Given the description of an element on the screen output the (x, y) to click on. 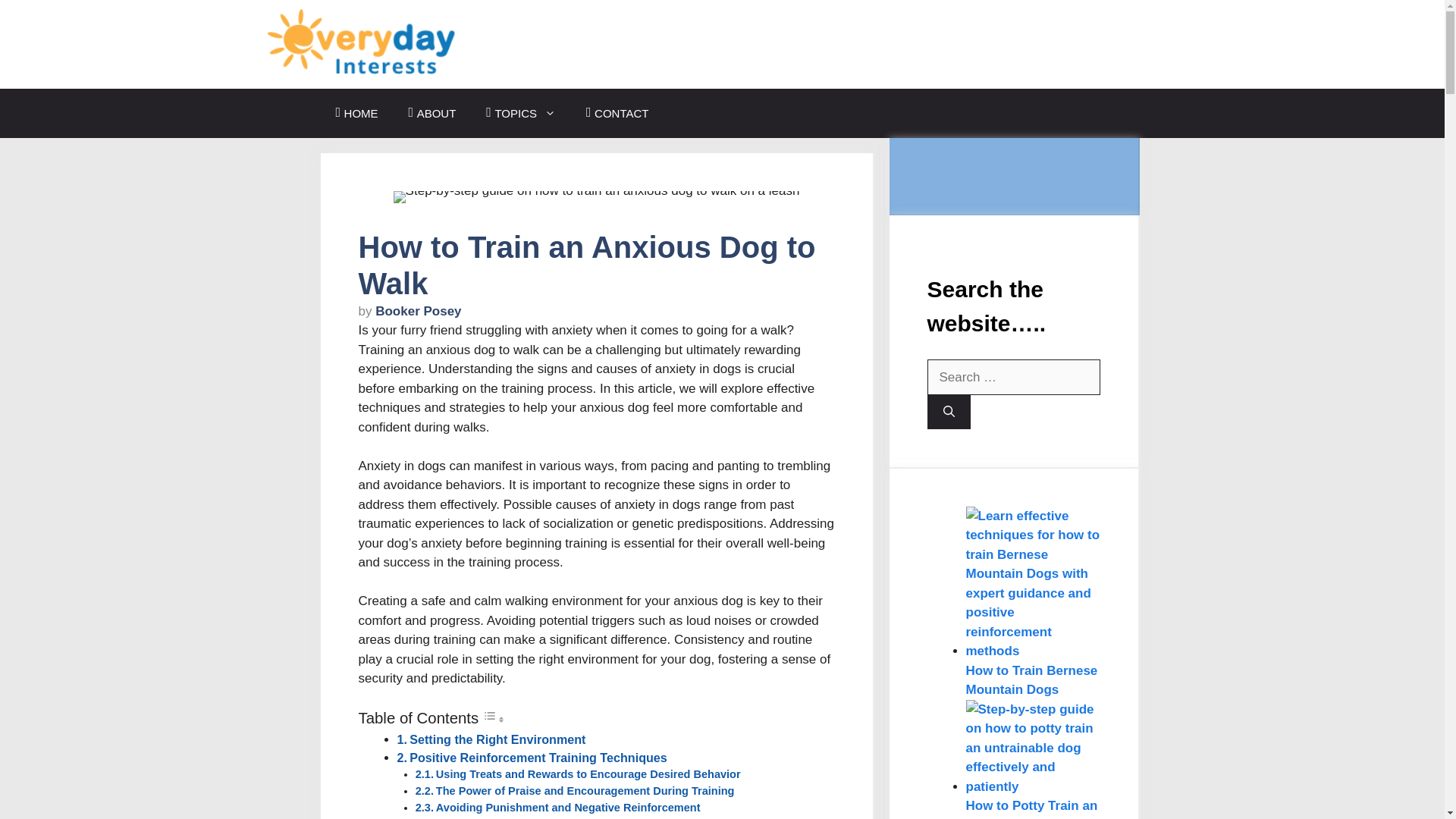
How to Train an Anxious Dog to Walk 1 (596, 196)
Setting the Right Environment (497, 739)
HOME (356, 113)
Using Treats and Rewards to Encourage Desired Behavior (588, 774)
The Power of Praise and Encouragement During Training (585, 790)
CONTACT (616, 113)
Setting the Right Environment (497, 739)
ABOUT (432, 113)
View all posts by Booker Posey (418, 310)
TOPICS (520, 113)
